Given the description of an element on the screen output the (x, y) to click on. 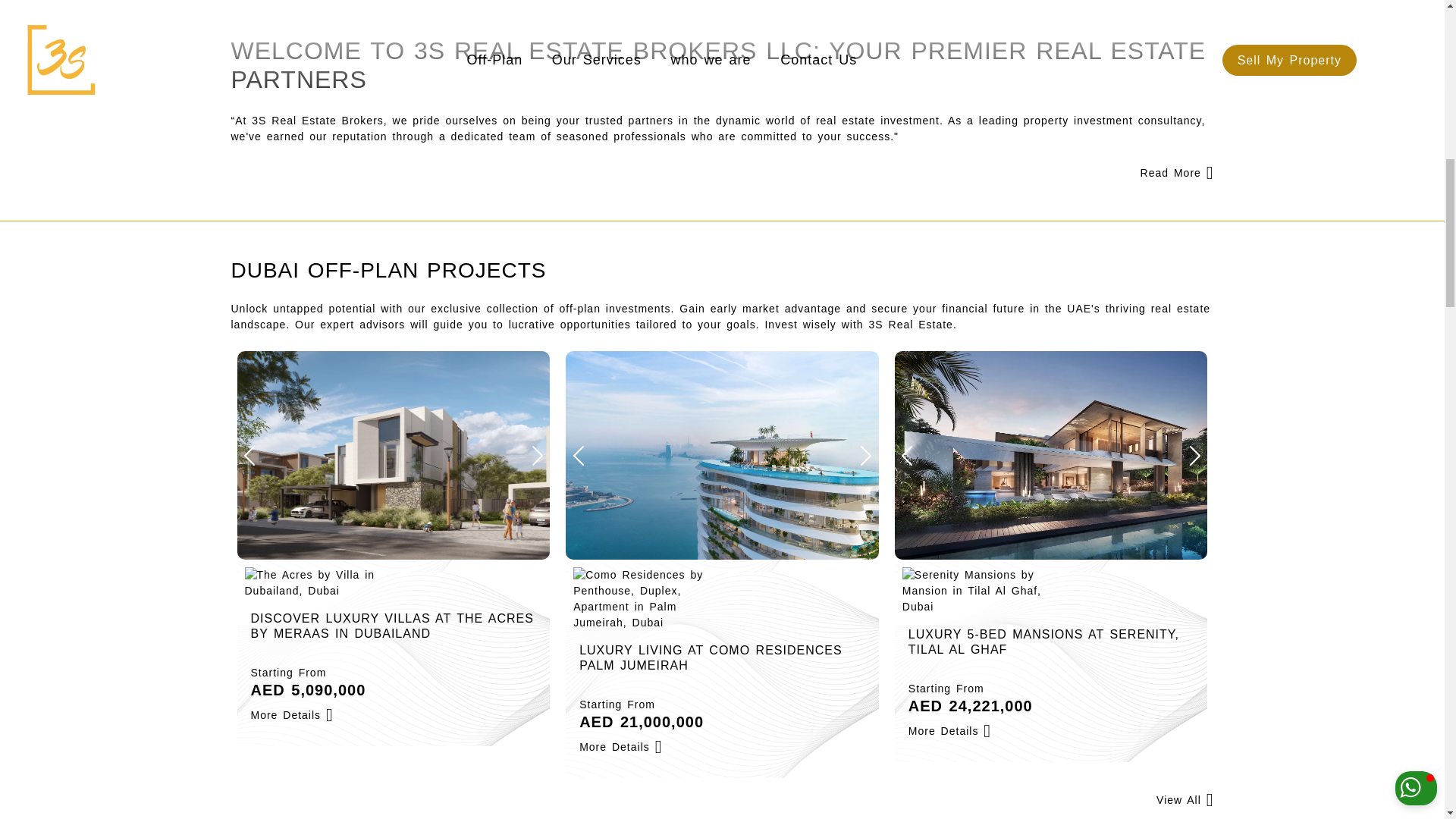
More Details (620, 746)
LUXURY LIVING AT COMO RESIDENCES PALM JUMEIRAH (721, 656)
More Details (1051, 455)
Read More (392, 455)
DISCOVER LUXURY VILLAS AT THE ACRES BY MERAAS IN DUBAILAND (291, 714)
